Given the description of an element on the screen output the (x, y) to click on. 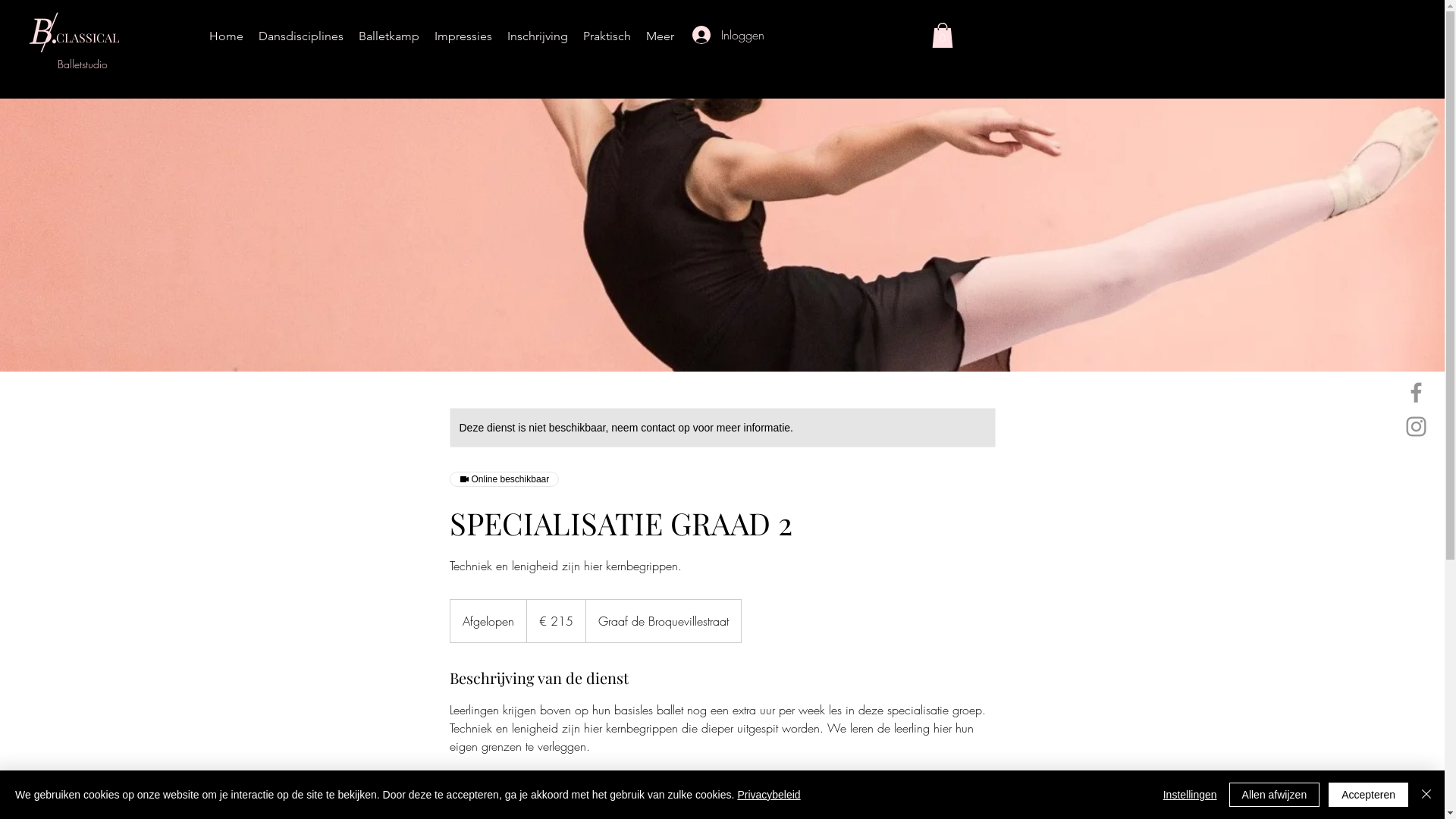
Accepteren Element type: text (1368, 794)
Inschrijving Element type: text (537, 36)
0 Element type: text (942, 34)
Inloggen Element type: text (712, 34)
Allen afwijzen Element type: text (1274, 794)
Home Element type: text (226, 36)
Dansdisciplines Element type: text (301, 36)
Praktisch Element type: text (606, 36)
Balletkamp Element type: text (388, 36)
Privacybeleid Element type: text (768, 794)
CLASSICAL Element type: text (87, 37)
